Given the description of an element on the screen output the (x, y) to click on. 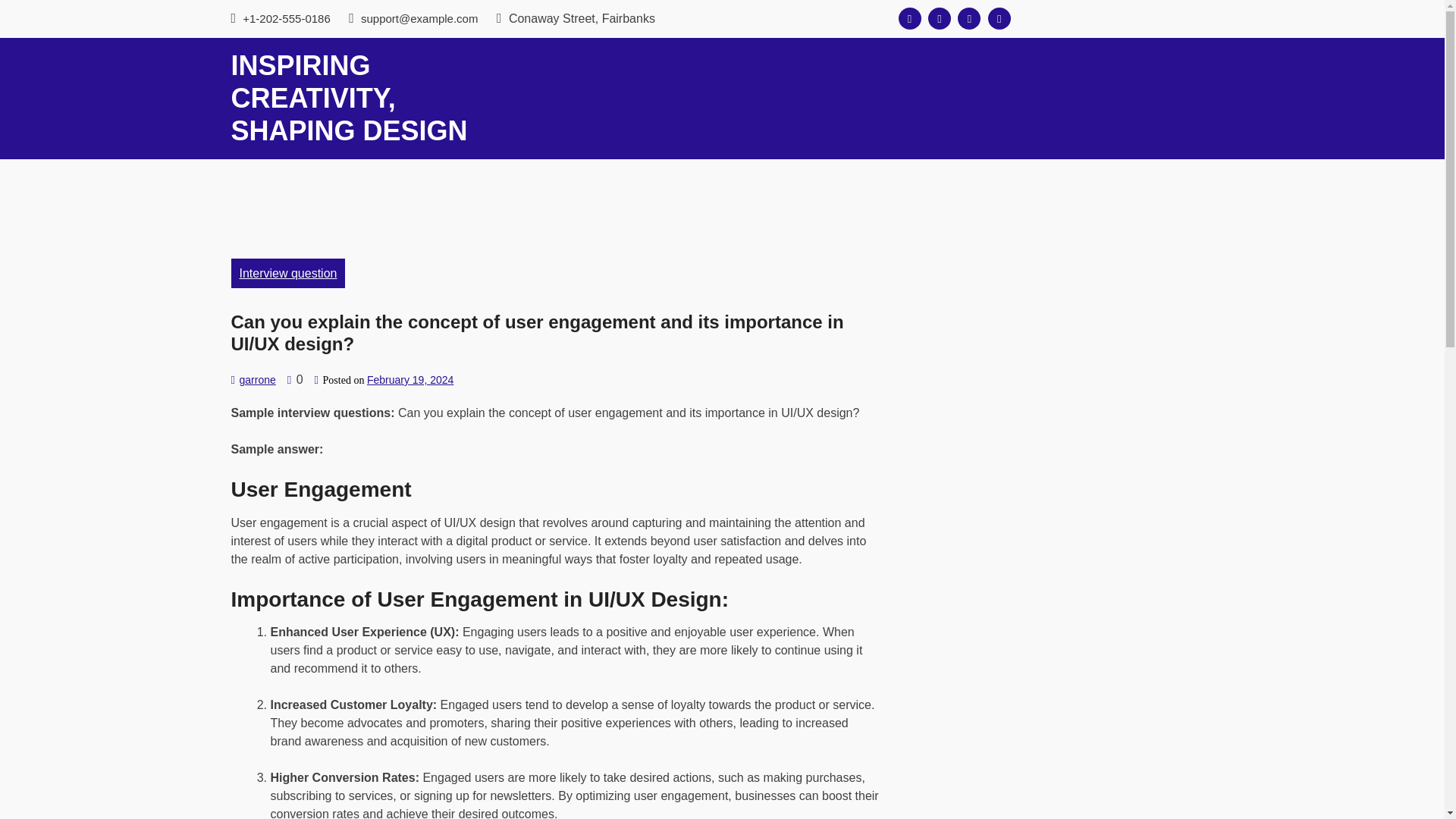
February 19, 2024 (409, 379)
garrone (256, 379)
INSPIRING CREATIVITY, SHAPING DESIGN (348, 97)
Interview question (287, 273)
Inspiring Creativity, Shaping Design (348, 97)
